Given the description of an element on the screen output the (x, y) to click on. 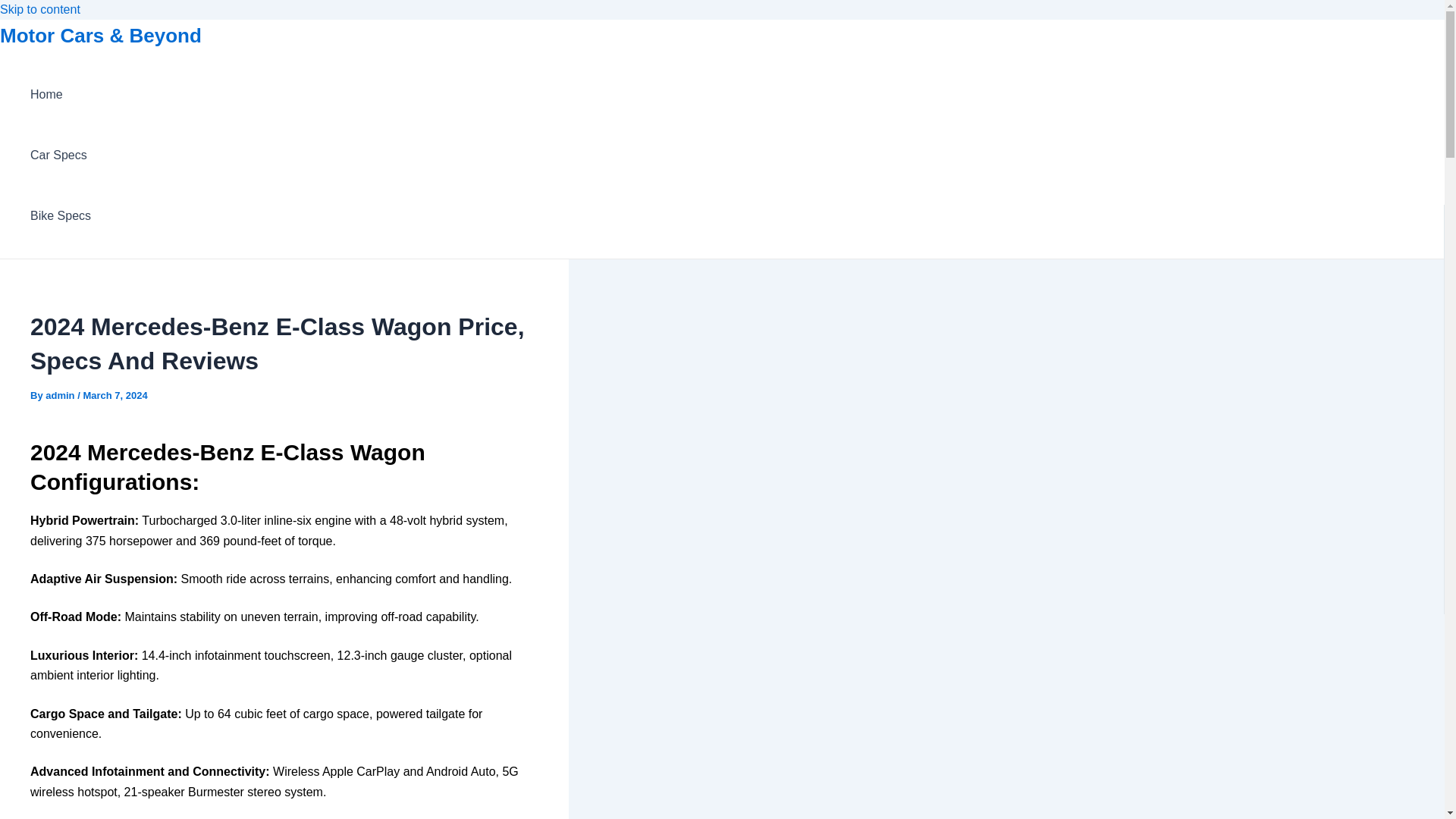
Bike Specs (60, 215)
admin (61, 395)
Home (60, 94)
Car Specs (60, 155)
View all posts by admin (61, 395)
Skip to content (40, 9)
Skip to content (40, 9)
